Given the description of an element on the screen output the (x, y) to click on. 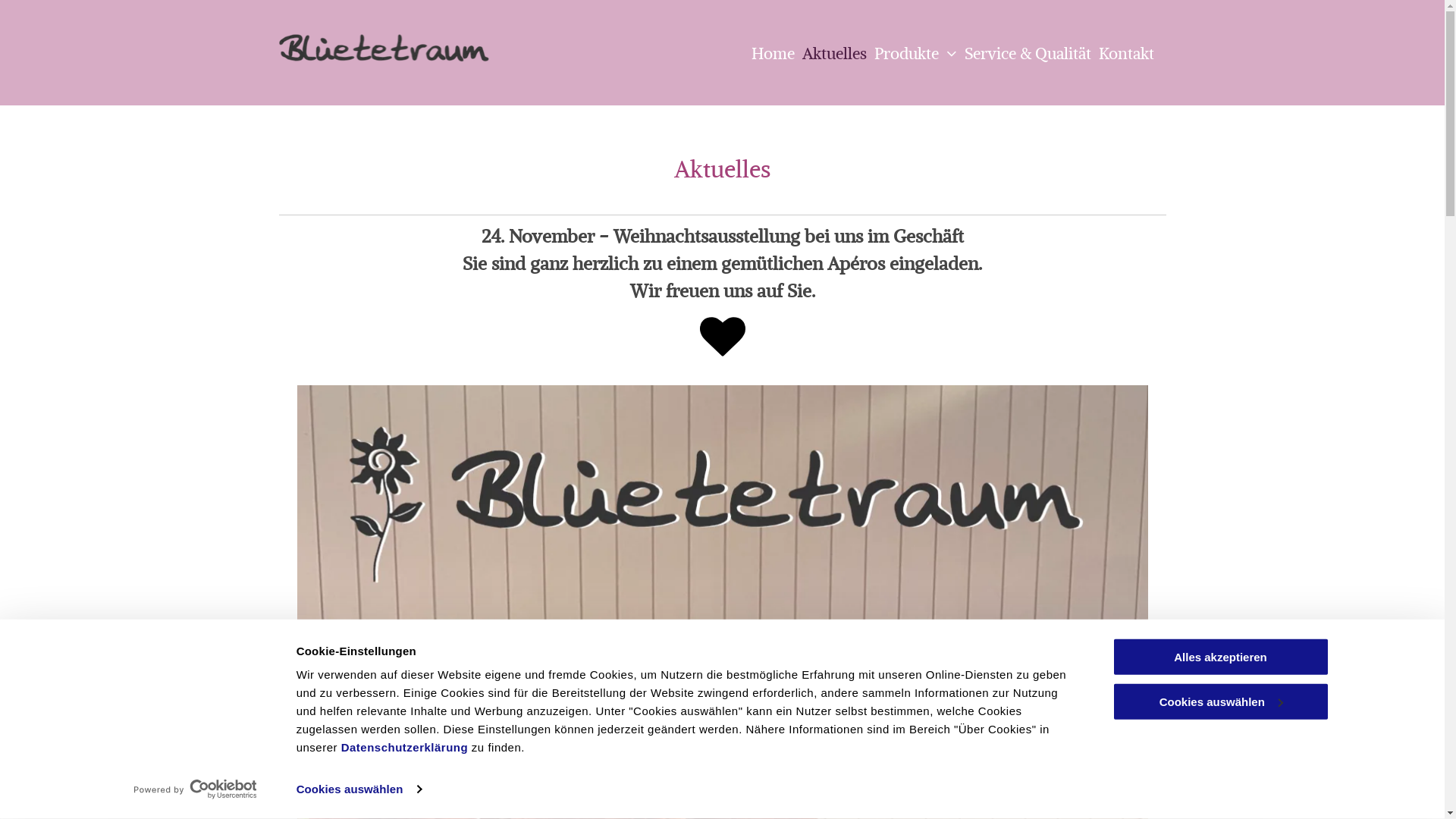
Home Element type: text (768, 54)
Kontakt Element type: text (1122, 54)
Aktuelles Element type: text (830, 54)
Alles akzeptieren Element type: text (1219, 656)
Produkte Element type: text (911, 54)
